Given the description of an element on the screen output the (x, y) to click on. 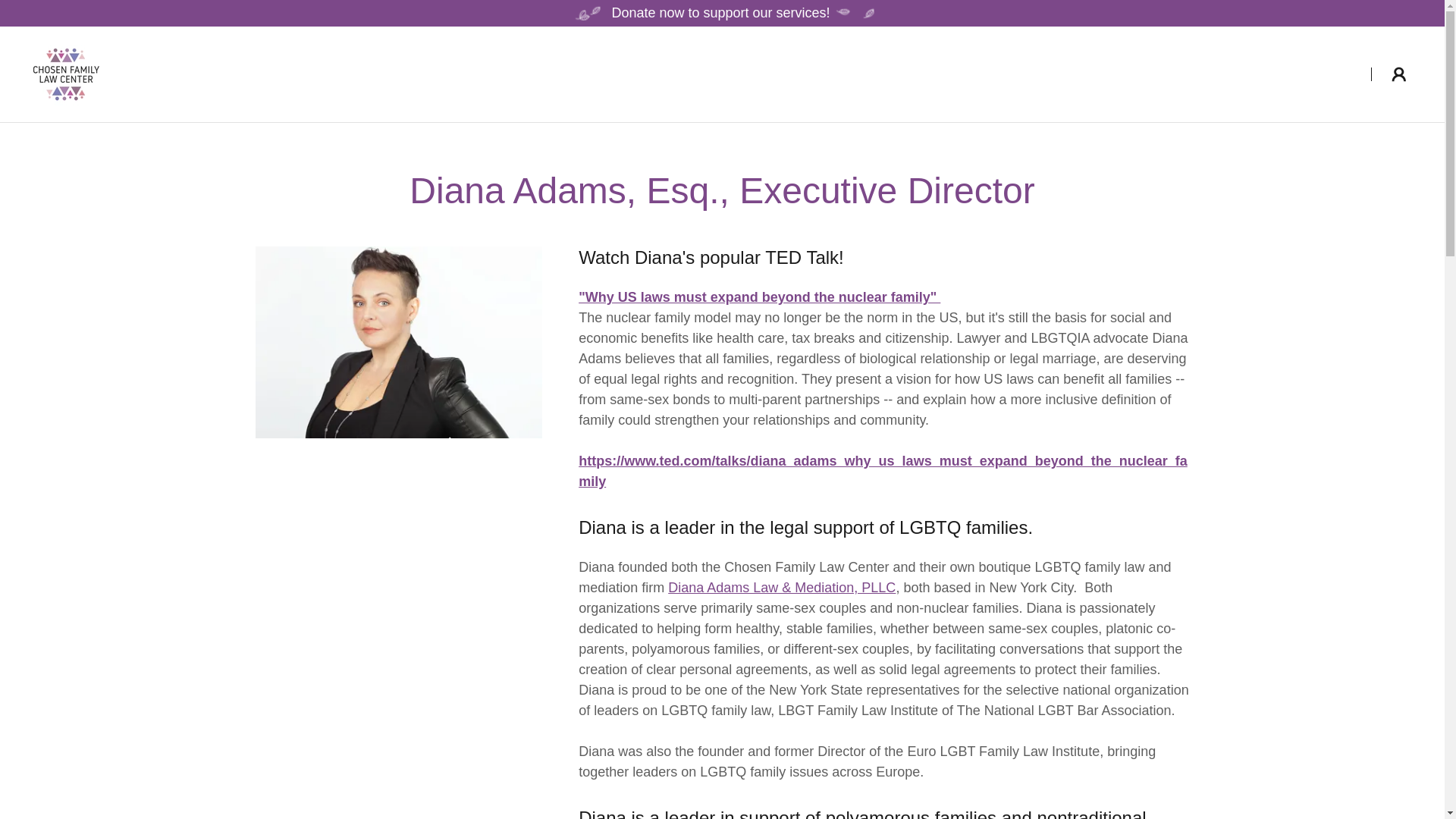
Chosen Family Law Center, Inc. (65, 73)
